Given the description of an element on the screen output the (x, y) to click on. 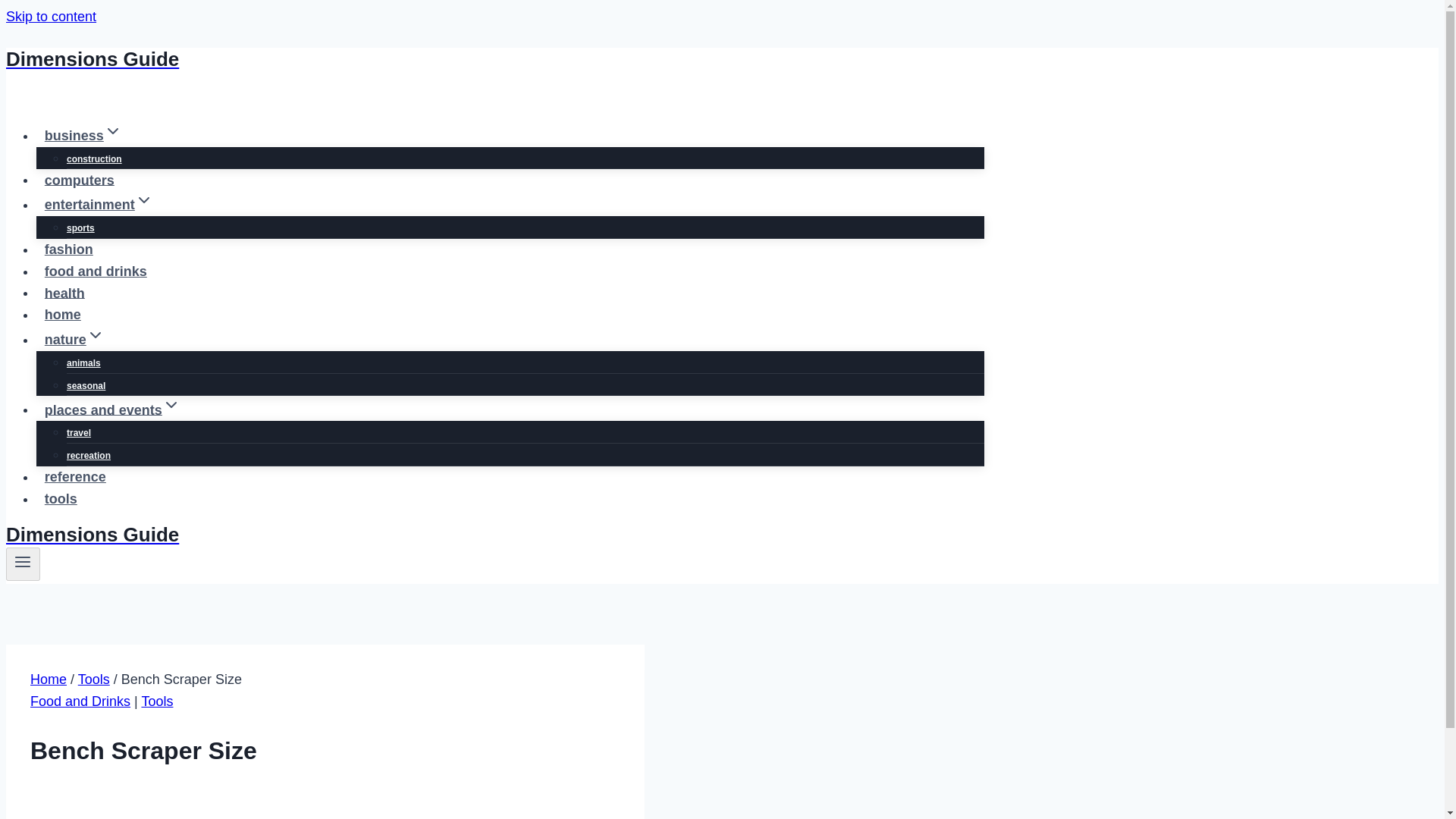
Home (48, 679)
entertainmentexpand (98, 204)
tools (60, 499)
reference (75, 477)
places and eventsexpand (112, 409)
Tools (157, 701)
sports (80, 227)
Skip to content (50, 16)
Skip to content (50, 16)
computers (79, 180)
Toggle Menu (22, 563)
businessexpand (83, 135)
Dimensions Guide (494, 535)
recreation (88, 455)
expand (112, 131)
